Given the description of an element on the screen output the (x, y) to click on. 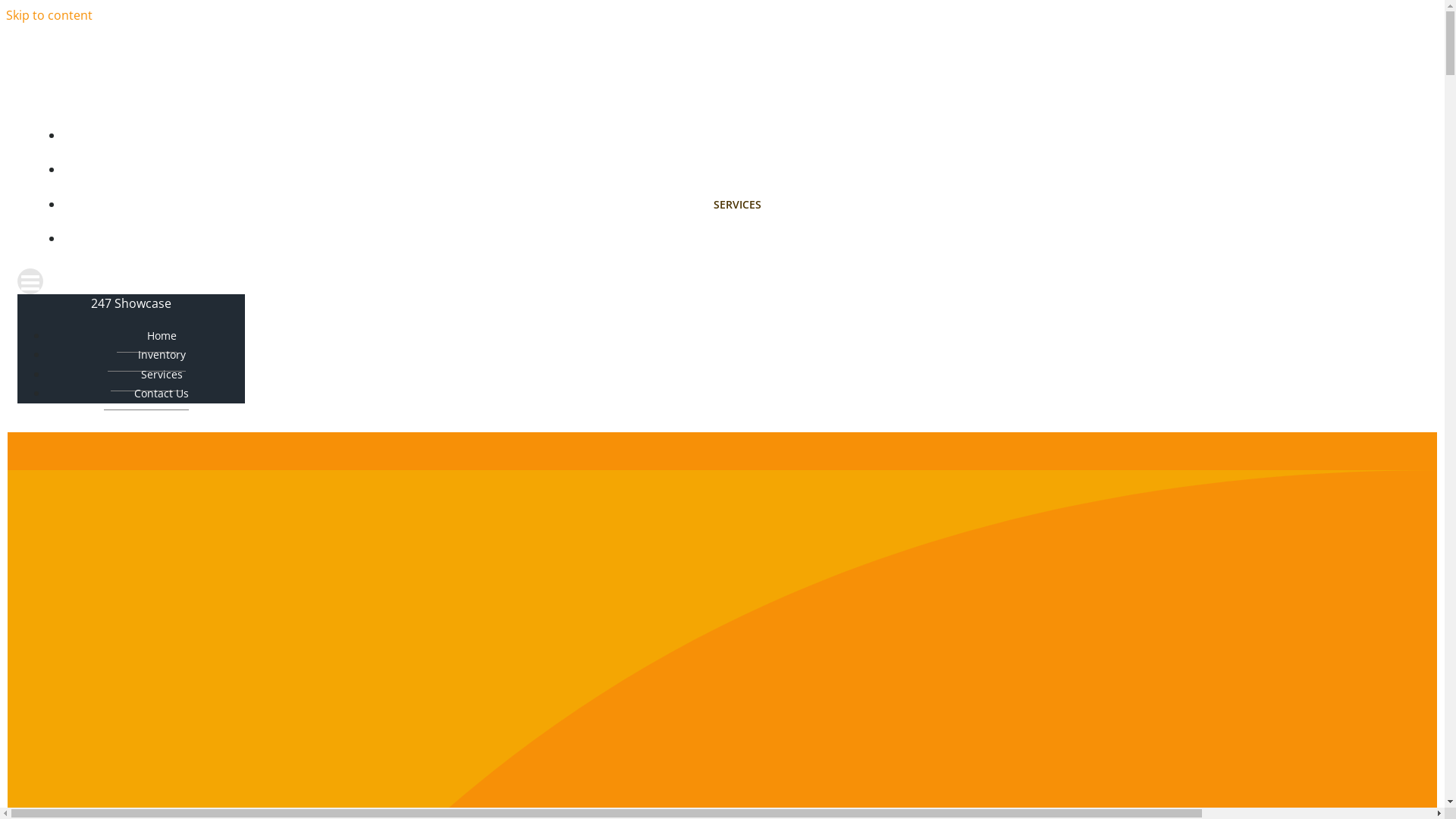
Services Element type: text (146, 374)
Inventory Element type: text (146, 354)
CONTACT US Element type: text (737, 238)
Menu Element type: hover (722, 281)
247 Showcase Element type: text (131, 302)
SERVICES Element type: text (737, 204)
Skip to content Element type: text (49, 14)
Home Element type: text (146, 335)
Contact Us Element type: text (145, 393)
HOME Element type: text (737, 135)
INVENTORY Element type: text (737, 169)
